Given the description of an element on the screen output the (x, y) to click on. 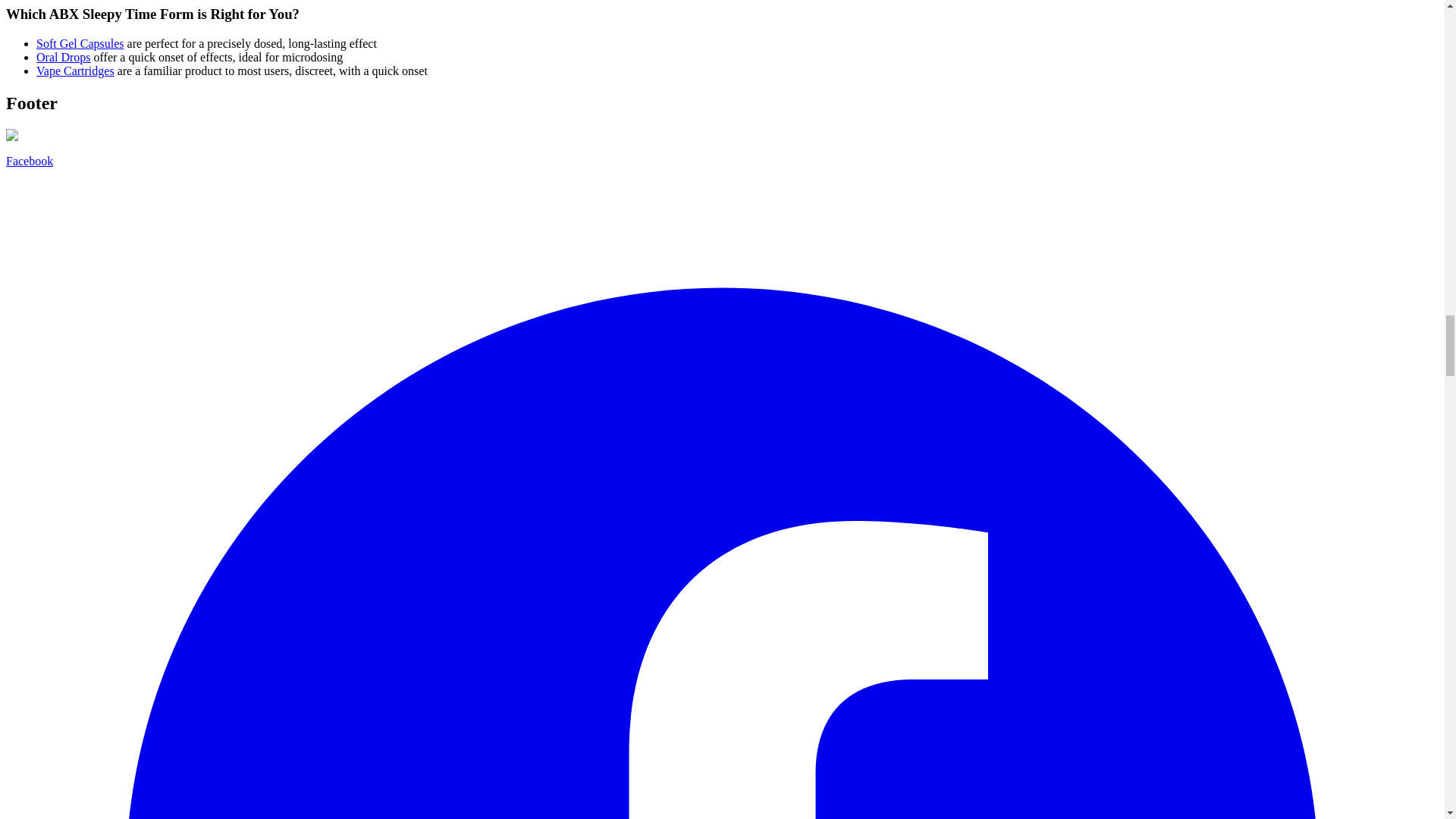
Vape Cartridges (75, 70)
Soft Gel Capsules (79, 42)
Oral Drops (63, 56)
